Given the description of an element on the screen output the (x, y) to click on. 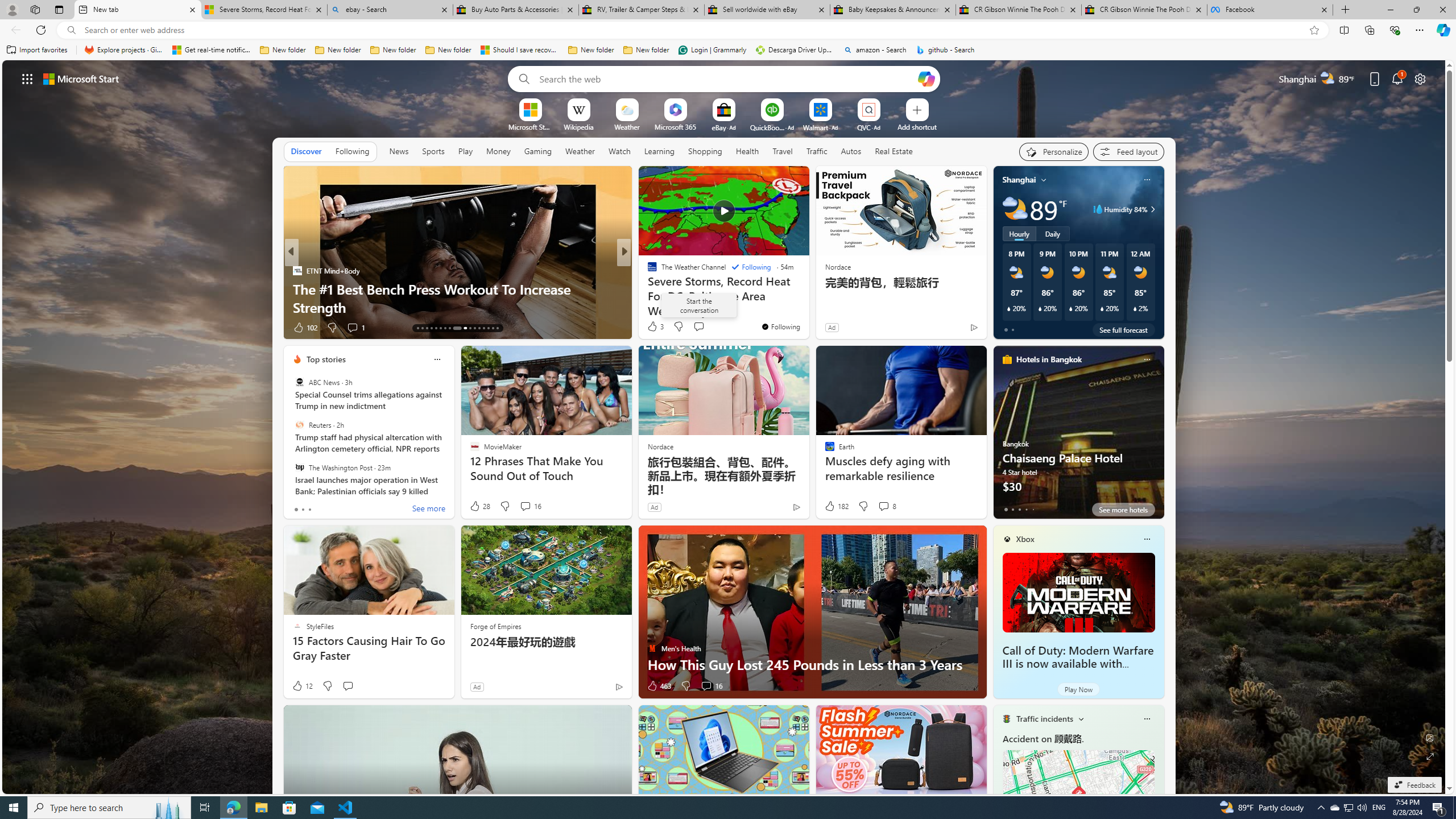
View comments 8 Comment (887, 505)
New folder (646, 49)
MUO (647, 288)
NBC News (647, 270)
Microsoft start (81, 78)
